Given the description of an element on the screen output the (x, y) to click on. 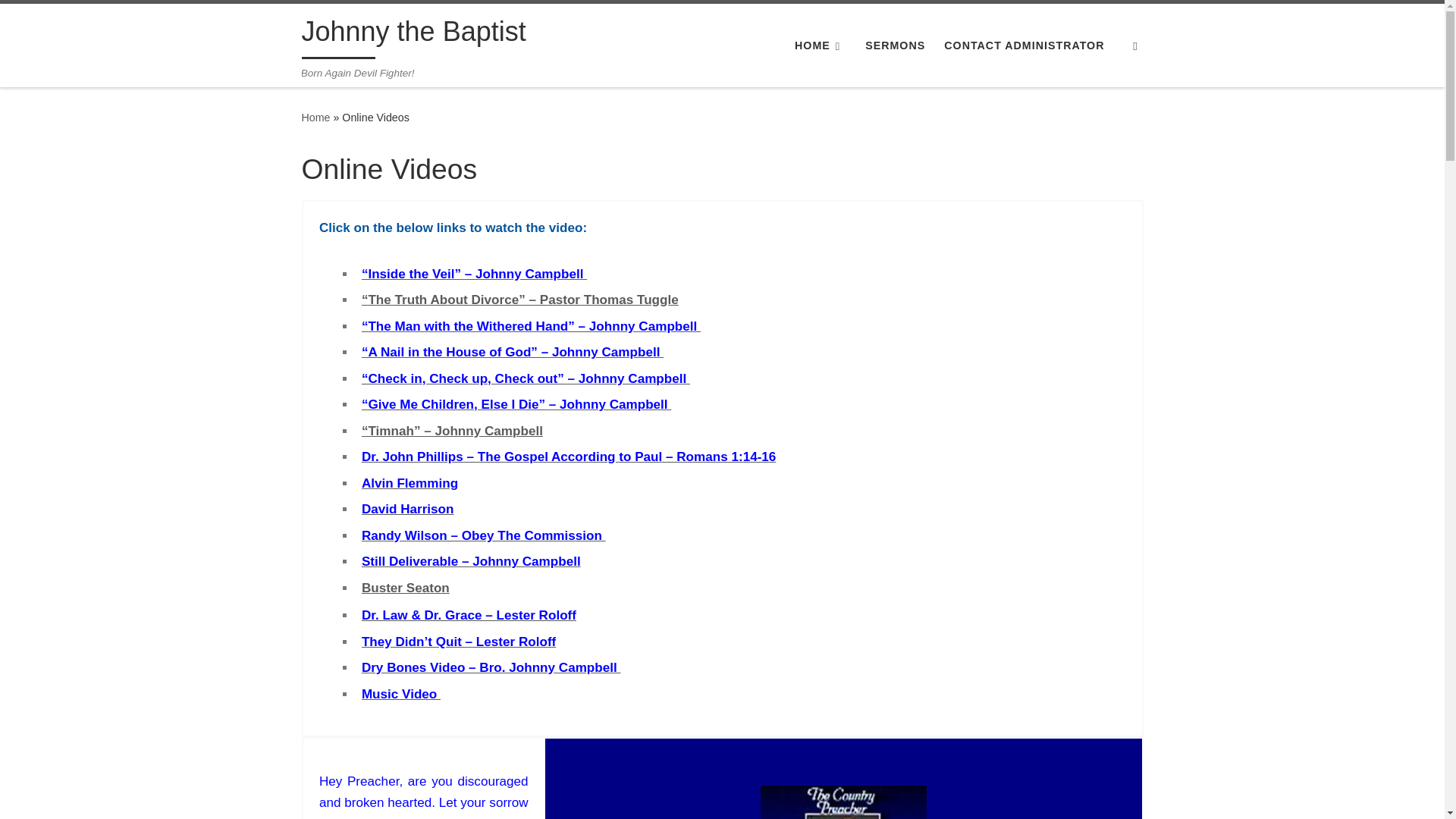
Johnny the Baptist (413, 34)
SERMONS (895, 45)
CONTACT ADMINISTRATOR (1024, 45)
Music Video  (401, 694)
Home (315, 117)
Alvin Flemming (409, 482)
HOME (820, 45)
Skip to content (60, 20)
David Harrison (407, 509)
Buster Seaton (405, 587)
